Given the description of an element on the screen output the (x, y) to click on. 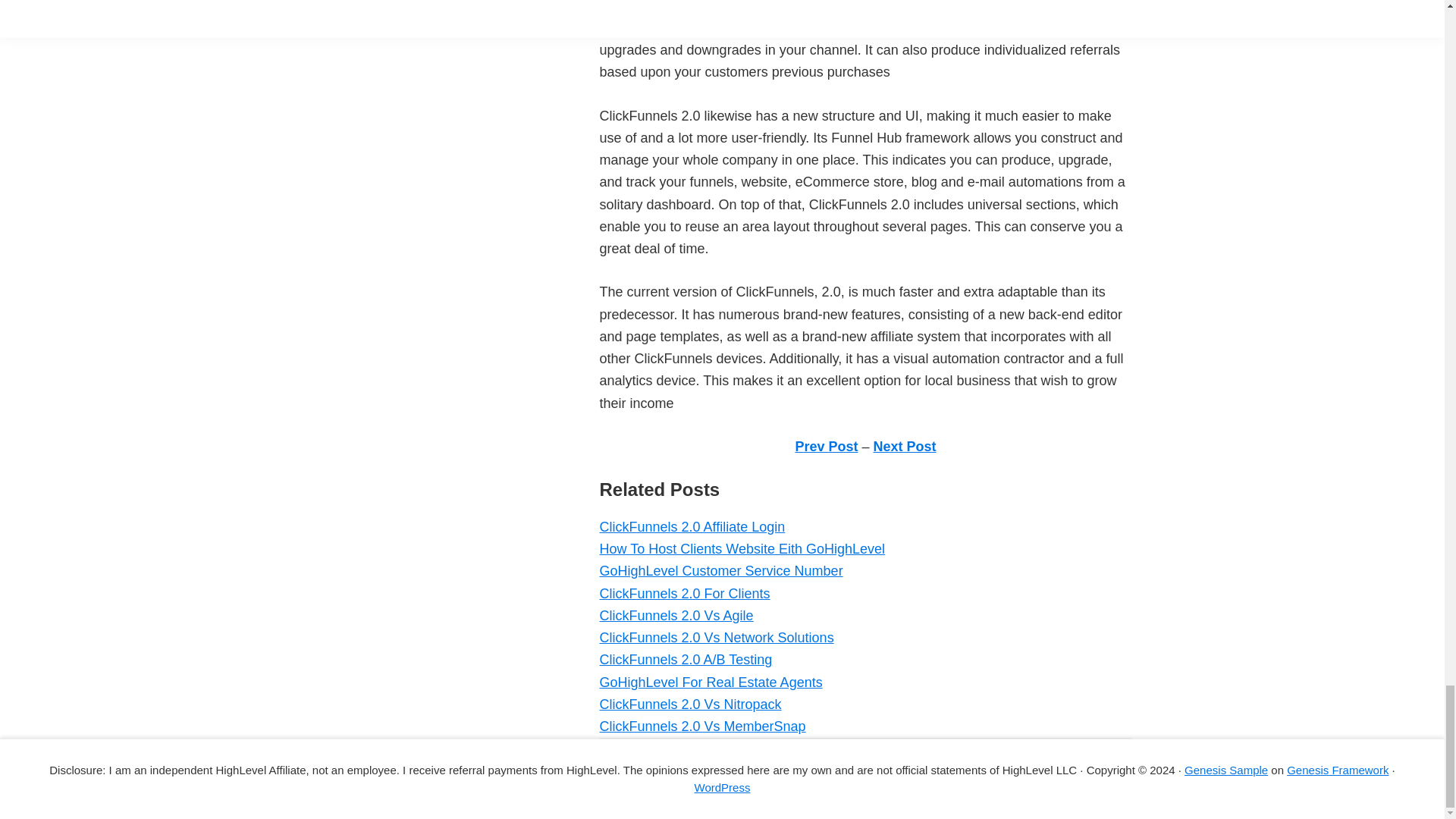
ClickFunnels 2.0 Vs Agile (675, 615)
Next Post (904, 446)
ClickFunnels 2.0 Vs MemberSnap (701, 726)
ClickFunnels 2.0 Affiliate Login (691, 526)
GoHighLevel Customer Service Number (720, 570)
ClickFunnels 2.0 Vs MemberSnap (701, 726)
GoHighLevel For Real Estate Agents (710, 682)
How To Host Clients Website Eith GoHighLevel (741, 548)
ClickFunnels 2.0 Vs Network Solutions (715, 637)
ClickFunnels 2.0 Vs Nitropack (689, 703)
